Given the description of an element on the screen output the (x, y) to click on. 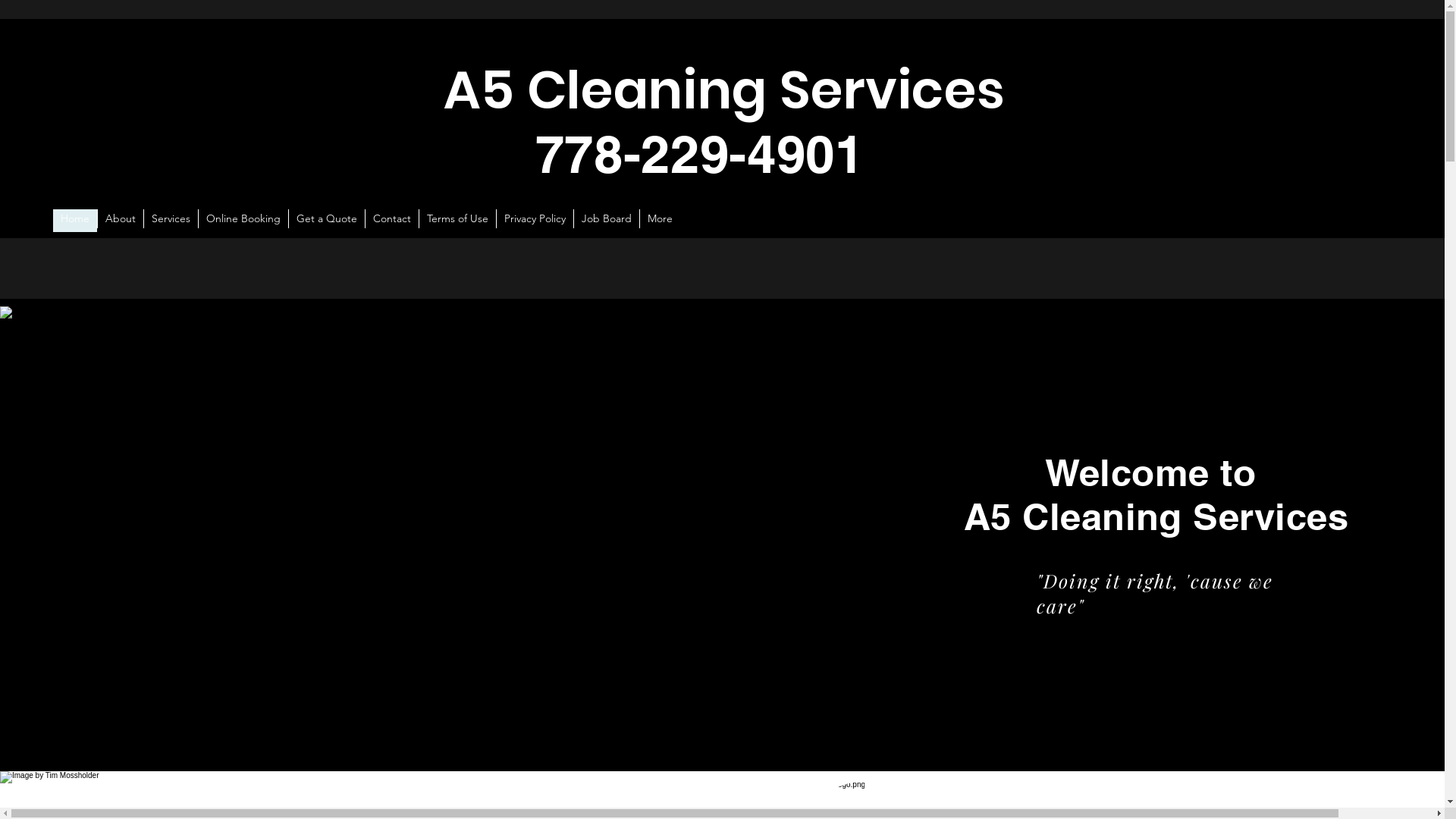
About Element type: text (120, 220)
Get a Quote Element type: text (326, 220)
Services Element type: text (170, 220)
Privacy Policy Element type: text (534, 220)
Online Booking Element type: text (242, 220)
Job Board Element type: text (606, 220)
Home Element type: text (75, 220)
Terms of Use Element type: text (456, 220)
Contact Element type: text (391, 220)
